Given the description of an element on the screen output the (x, y) to click on. 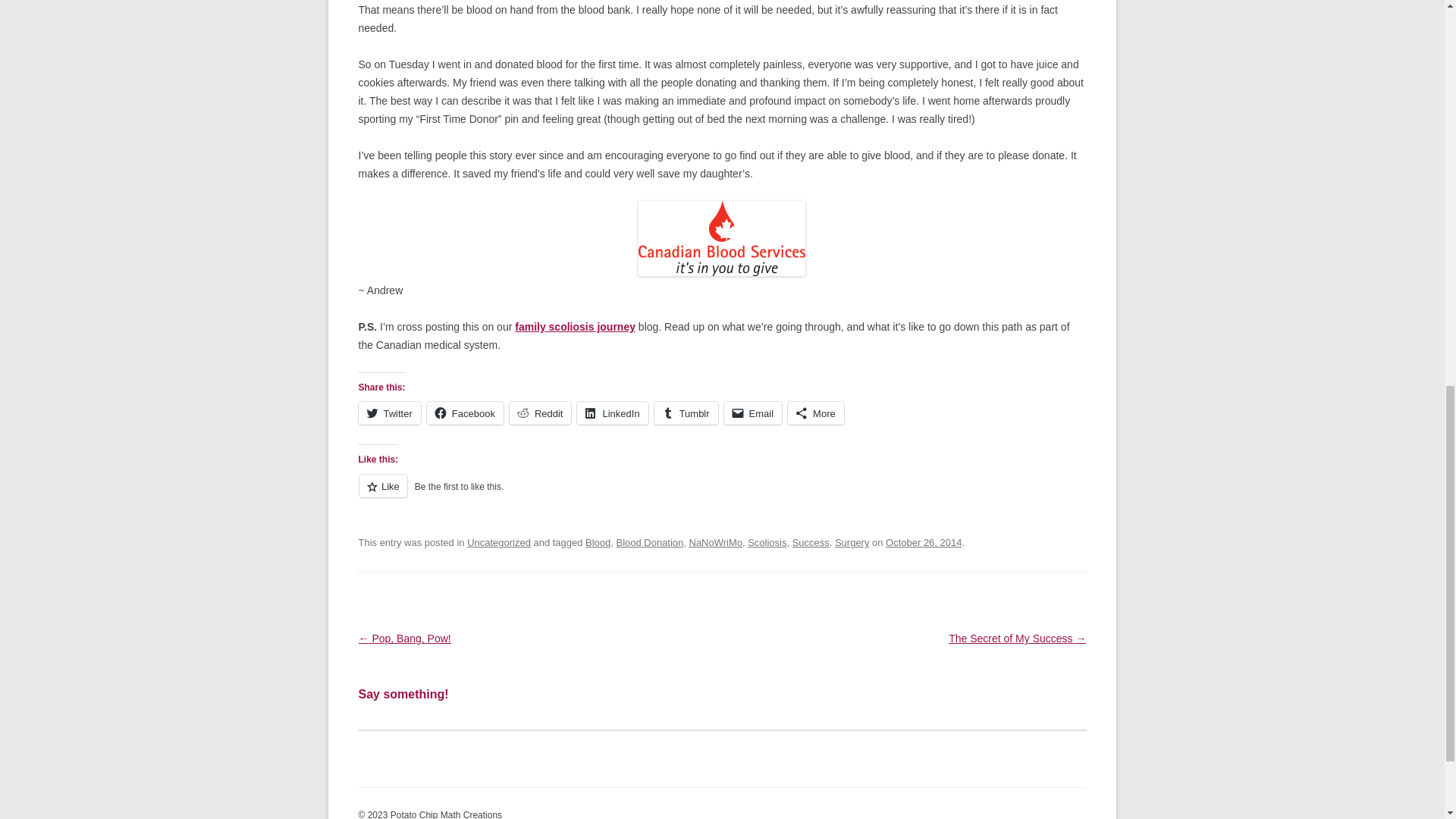
More (815, 413)
9:41 pm (922, 542)
Blood Donation (648, 542)
Click to share on LinkedIn (611, 413)
Success (810, 542)
Reddit (540, 413)
Blood (597, 542)
family scoliosis journey (574, 326)
Twitter (389, 413)
Click to share on Twitter (389, 413)
Uncategorized (499, 542)
Like or Reblog (722, 494)
Surgery (851, 542)
Scoliosis (767, 542)
Email (753, 413)
